Given the description of an element on the screen output the (x, y) to click on. 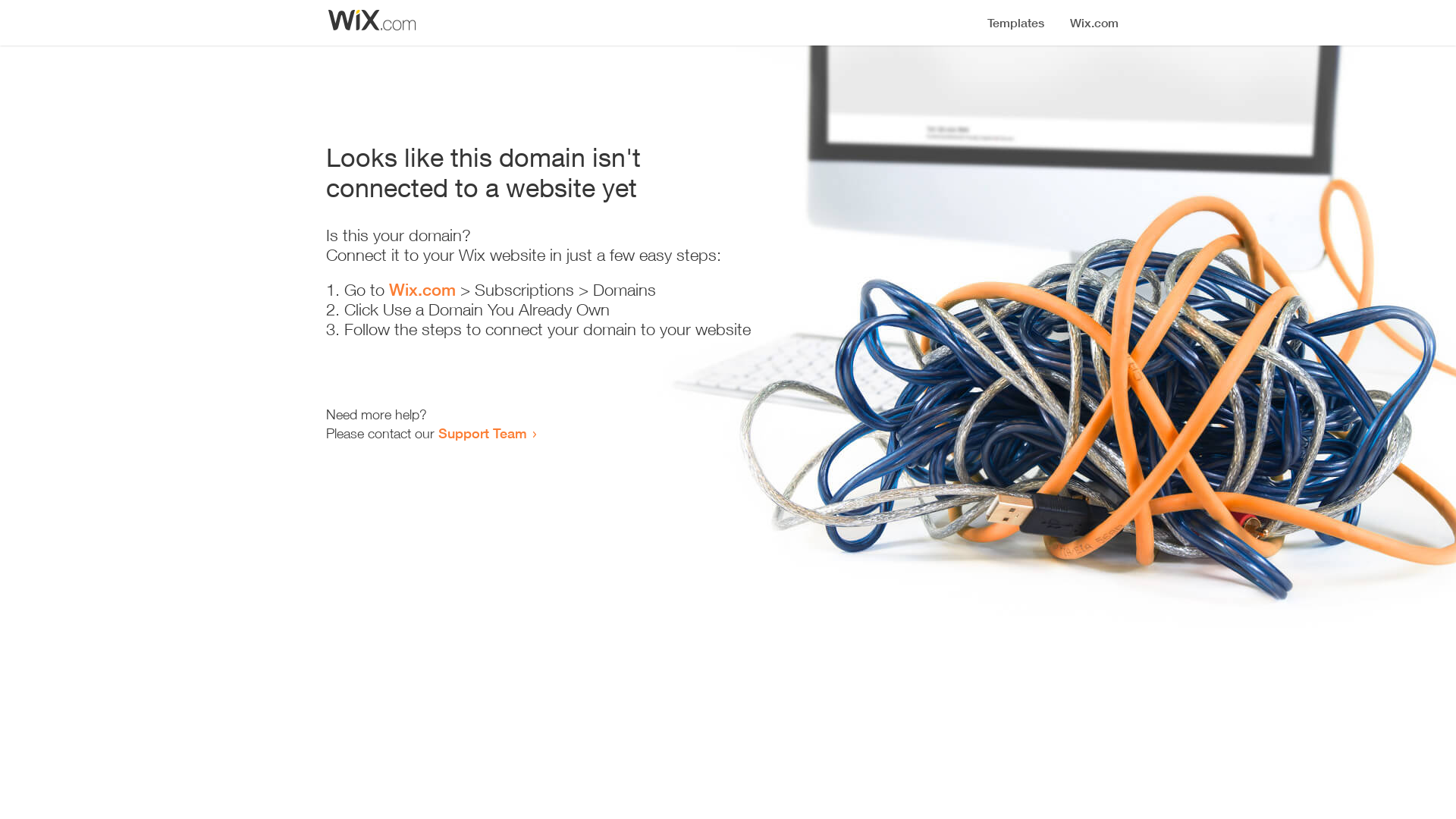
Support Team Element type: text (482, 432)
Wix.com Element type: text (422, 289)
